Given the description of an element on the screen output the (x, y) to click on. 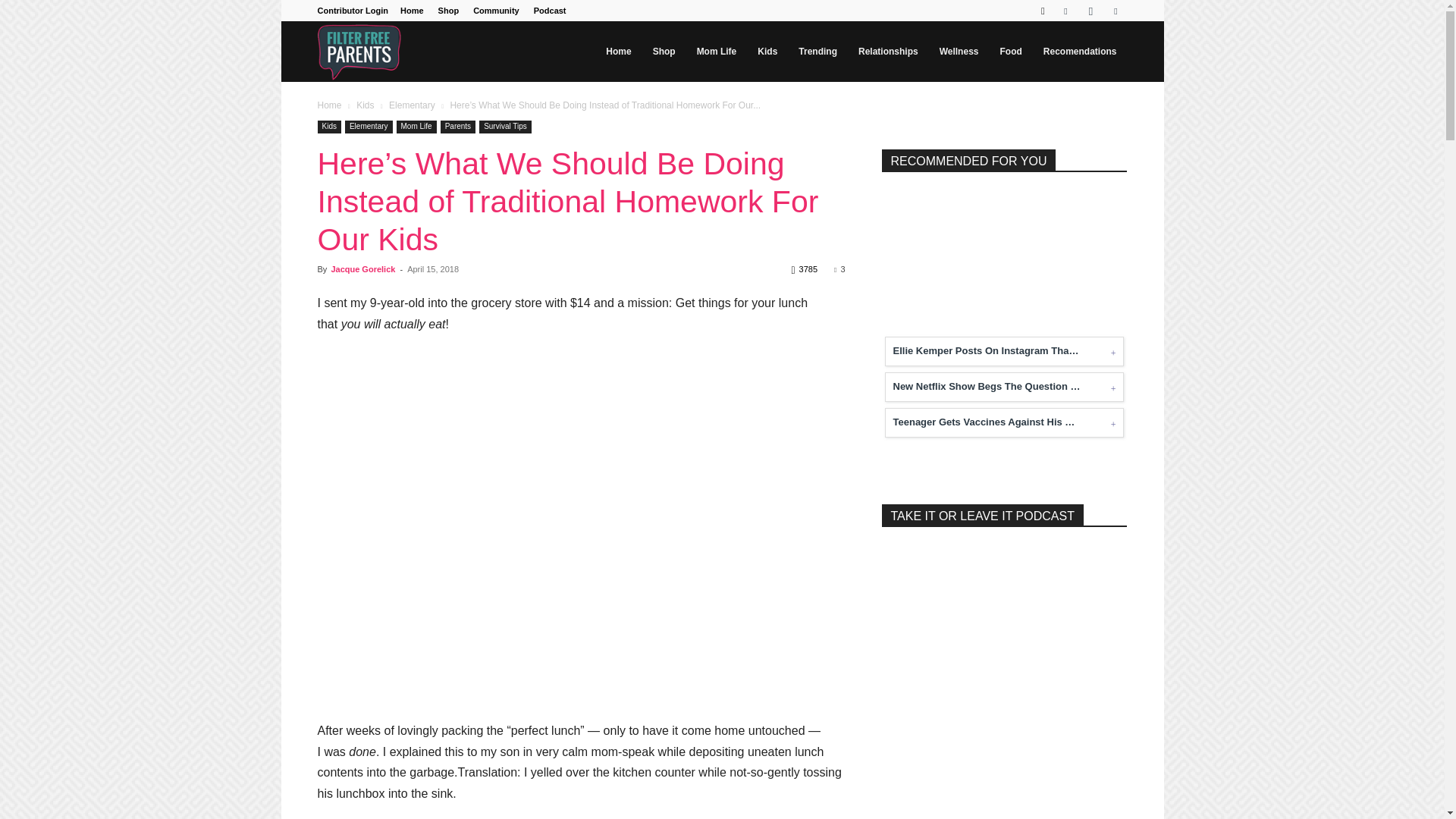
Facebook (1065, 10)
Contributor Login (352, 10)
Pinterest (1114, 10)
Instagram (1090, 10)
Home (411, 10)
